Given the description of an element on the screen output the (x, y) to click on. 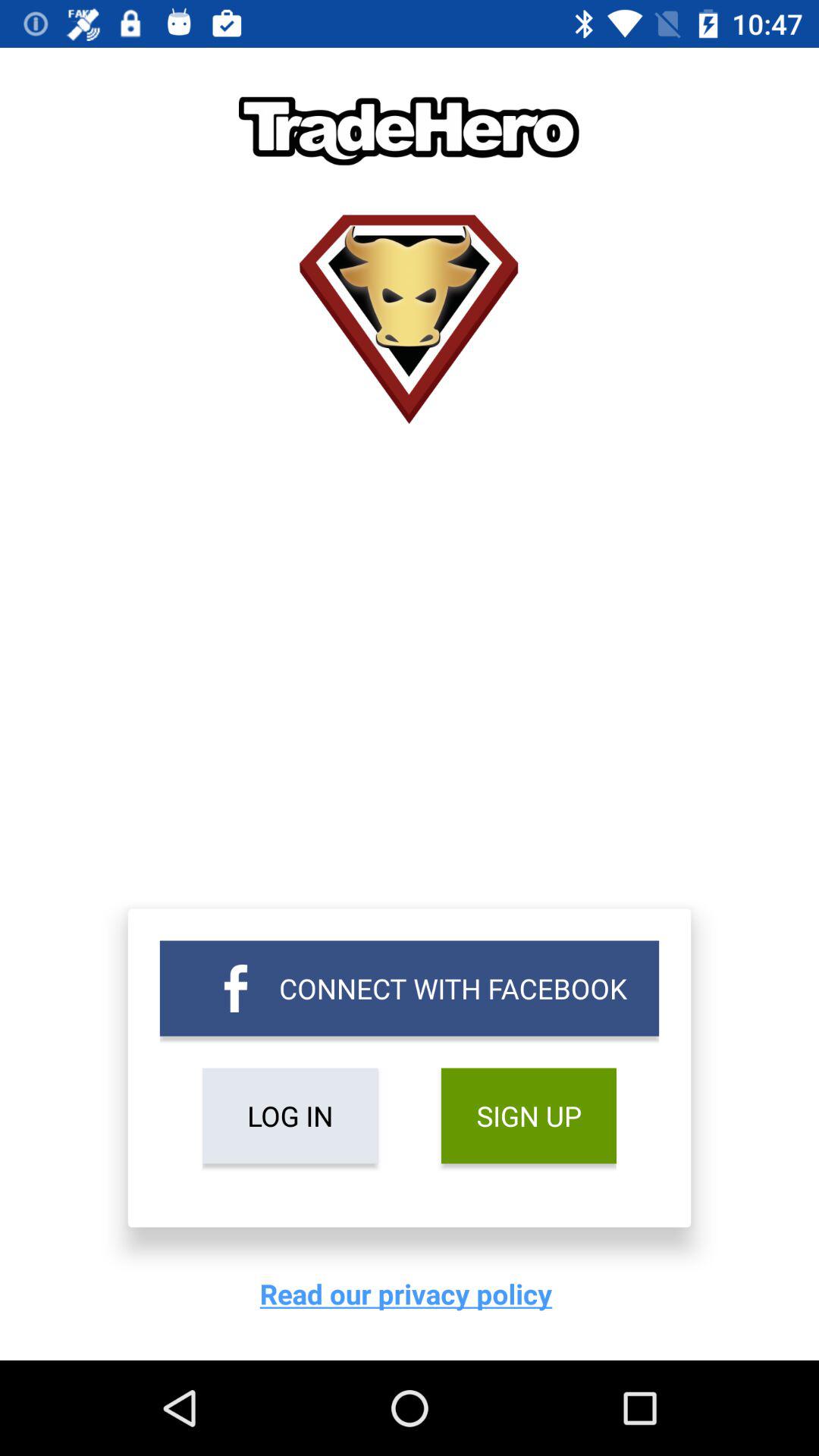
jump until the read our privacy icon (409, 1293)
